Given the description of an element on the screen output the (x, y) to click on. 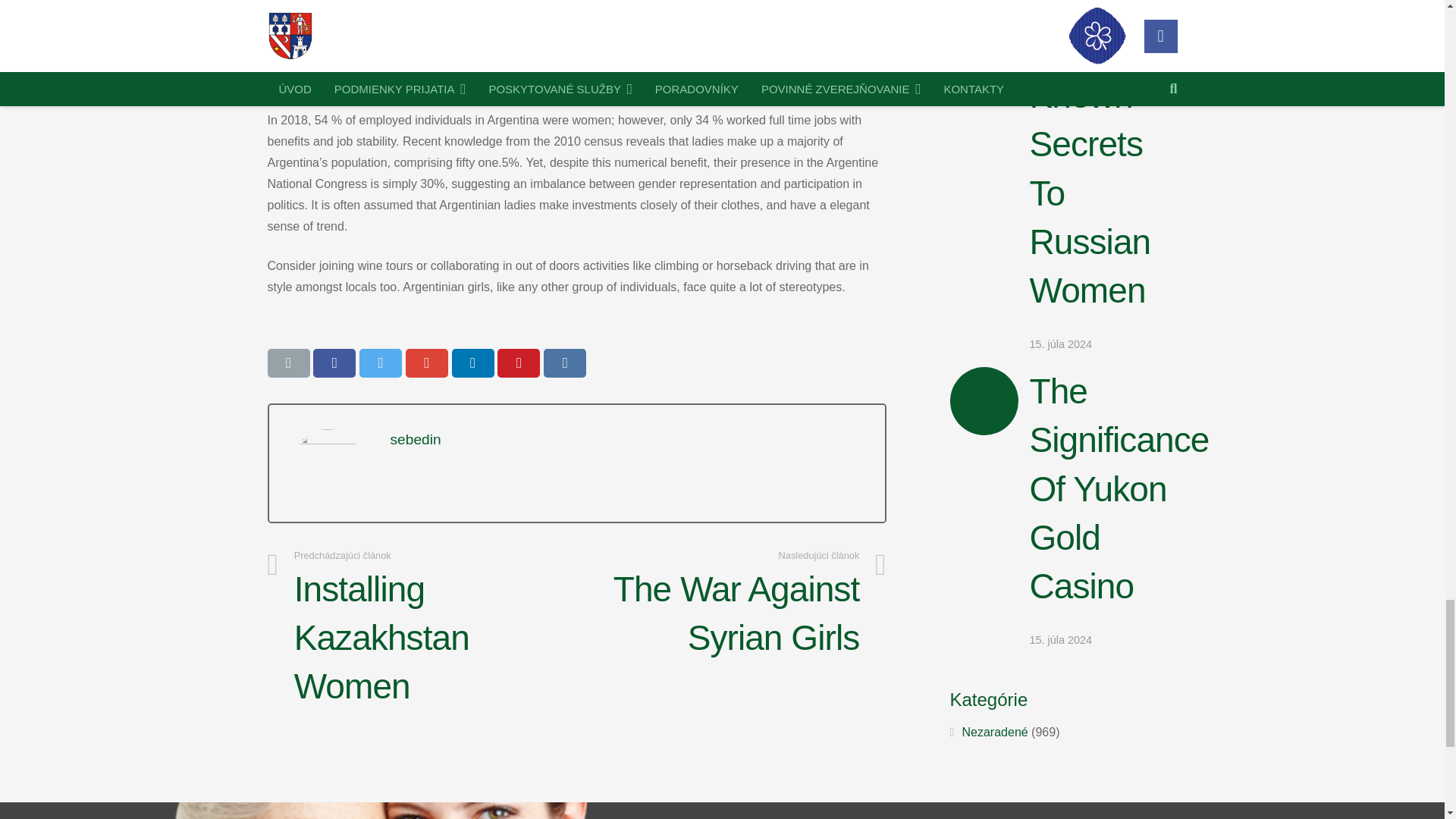
Share this (334, 362)
Pin this (518, 362)
Tweet this (380, 362)
Share this (427, 362)
Share this (473, 362)
Share this (564, 362)
sebedin (415, 439)
Email this (287, 362)
